Given the description of an element on the screen output the (x, y) to click on. 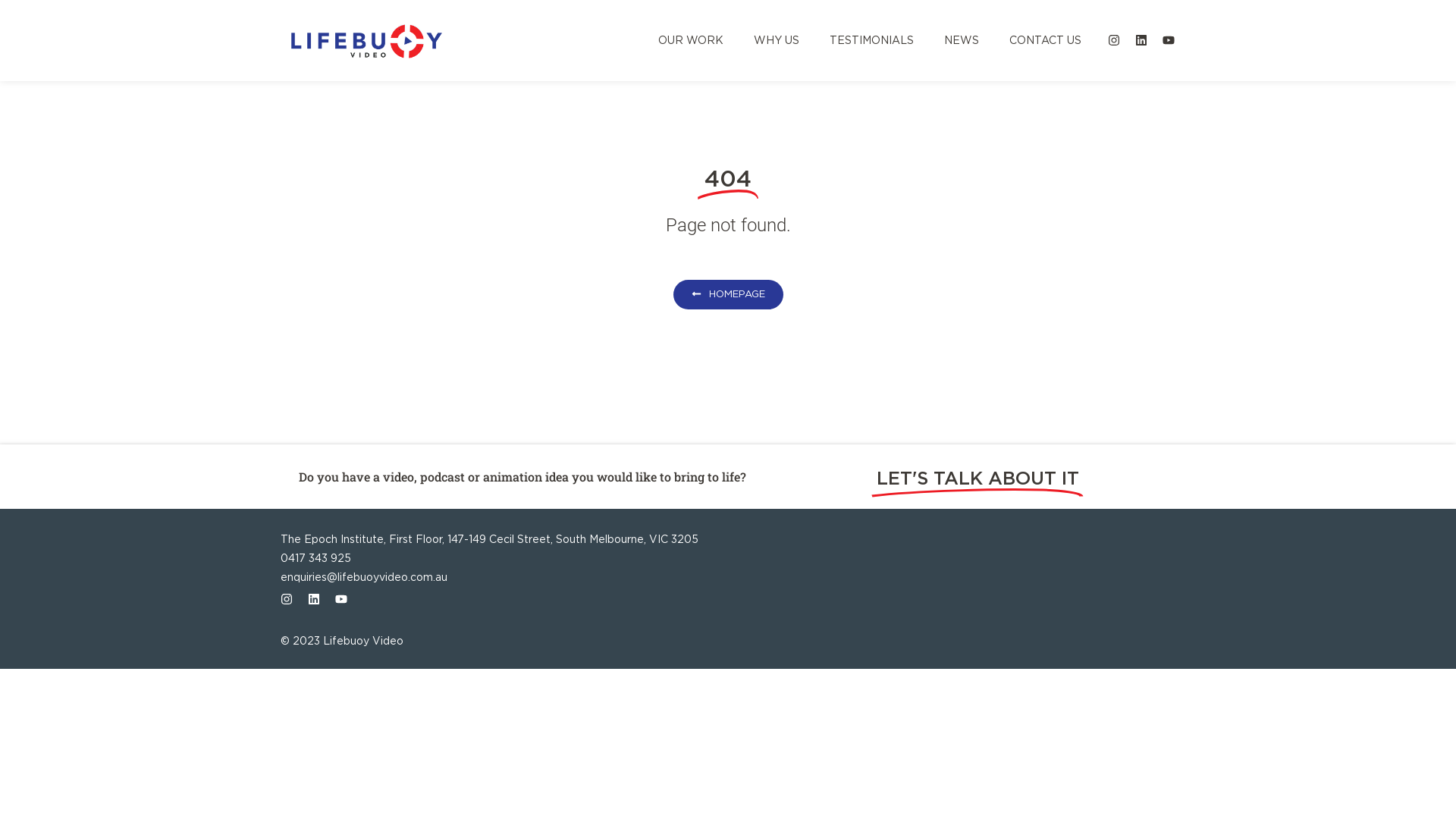
NEWS Element type: text (961, 40)
LET'S TALK ABOUT IT Element type: text (977, 478)
TESTIMONIALS Element type: text (871, 40)
HOMEPAGE Element type: text (728, 294)
ua.moc.oedivyoubefil@seiriuqne Element type: text (727, 577)
CONTACT US Element type: text (1045, 40)
WHY US Element type: text (776, 40)
0417 343 925 Element type: text (727, 558)
OUR WORK Element type: text (690, 40)
